Given the description of an element on the screen output the (x, y) to click on. 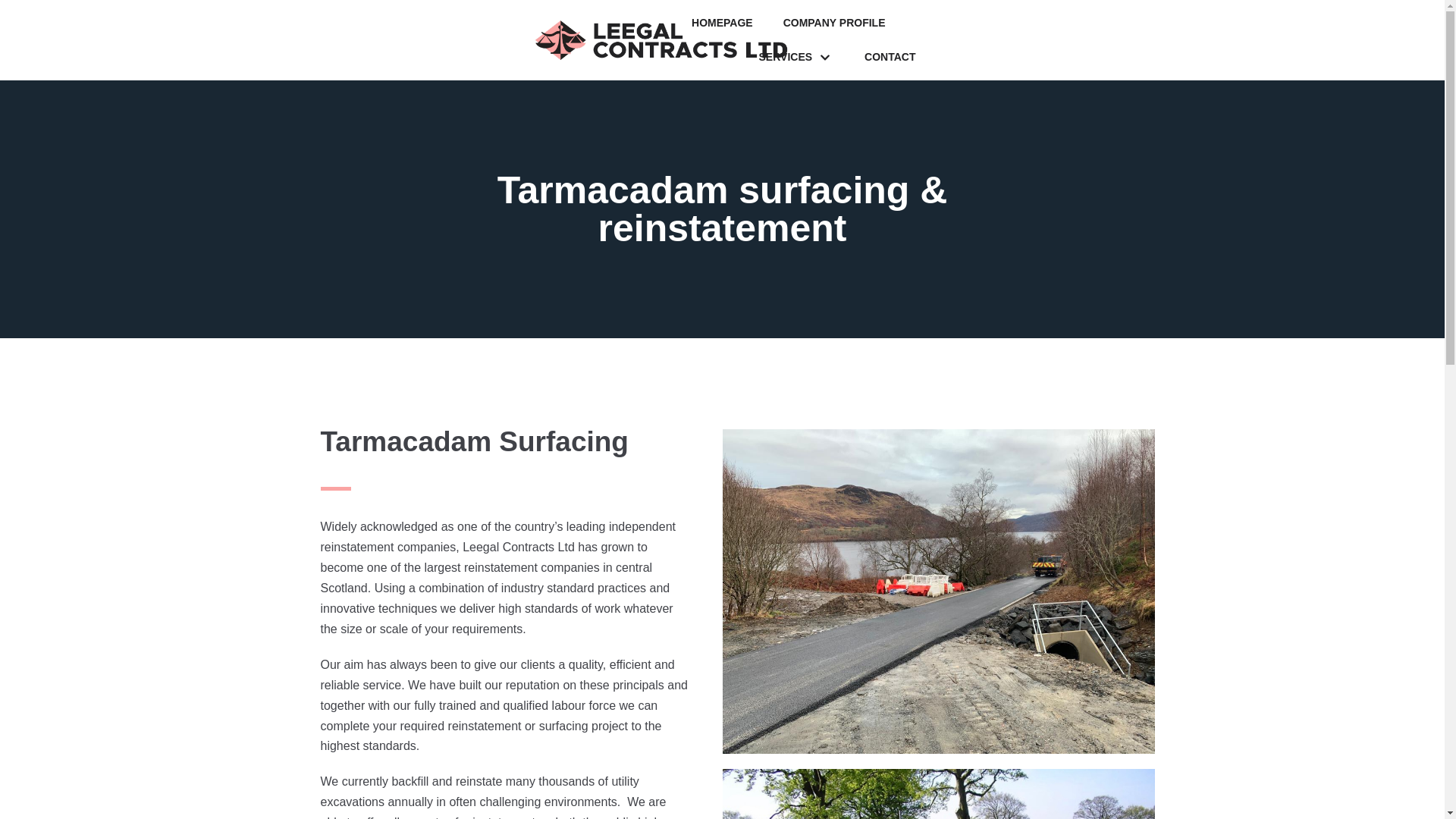
Skip to content (15, 31)
HOMEPAGE (721, 22)
COMPANY PROFILE (834, 22)
LEEGAL CONTRACTS (661, 40)
SERVICES (796, 56)
CONTACT (889, 56)
